Given the description of an element on the screen output the (x, y) to click on. 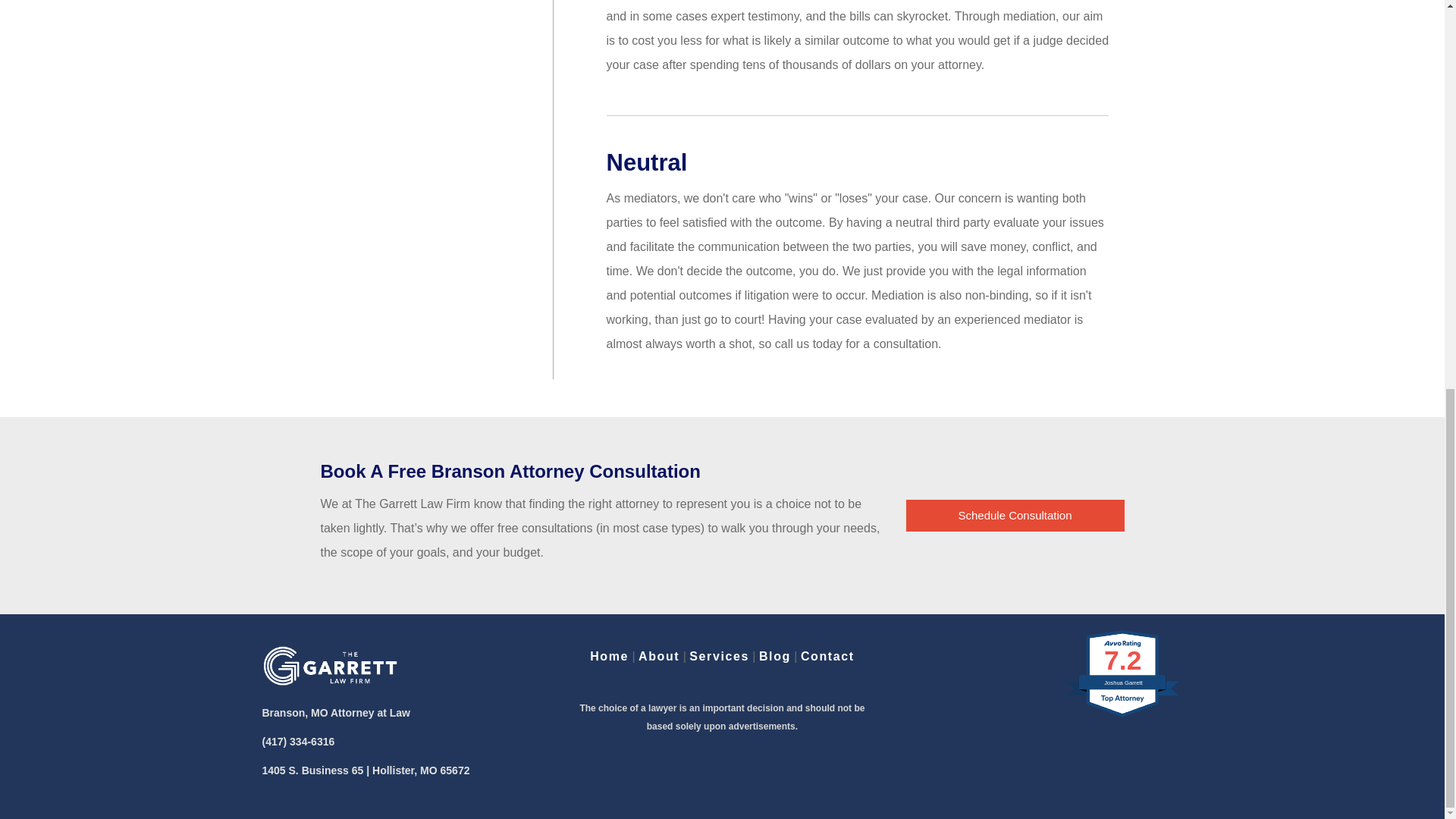
Schedule Consultation (1014, 515)
white-logo (330, 665)
Blog (774, 656)
About (659, 656)
Contact (827, 656)
Services (718, 656)
Home (608, 656)
